Given the description of an element on the screen output the (x, y) to click on. 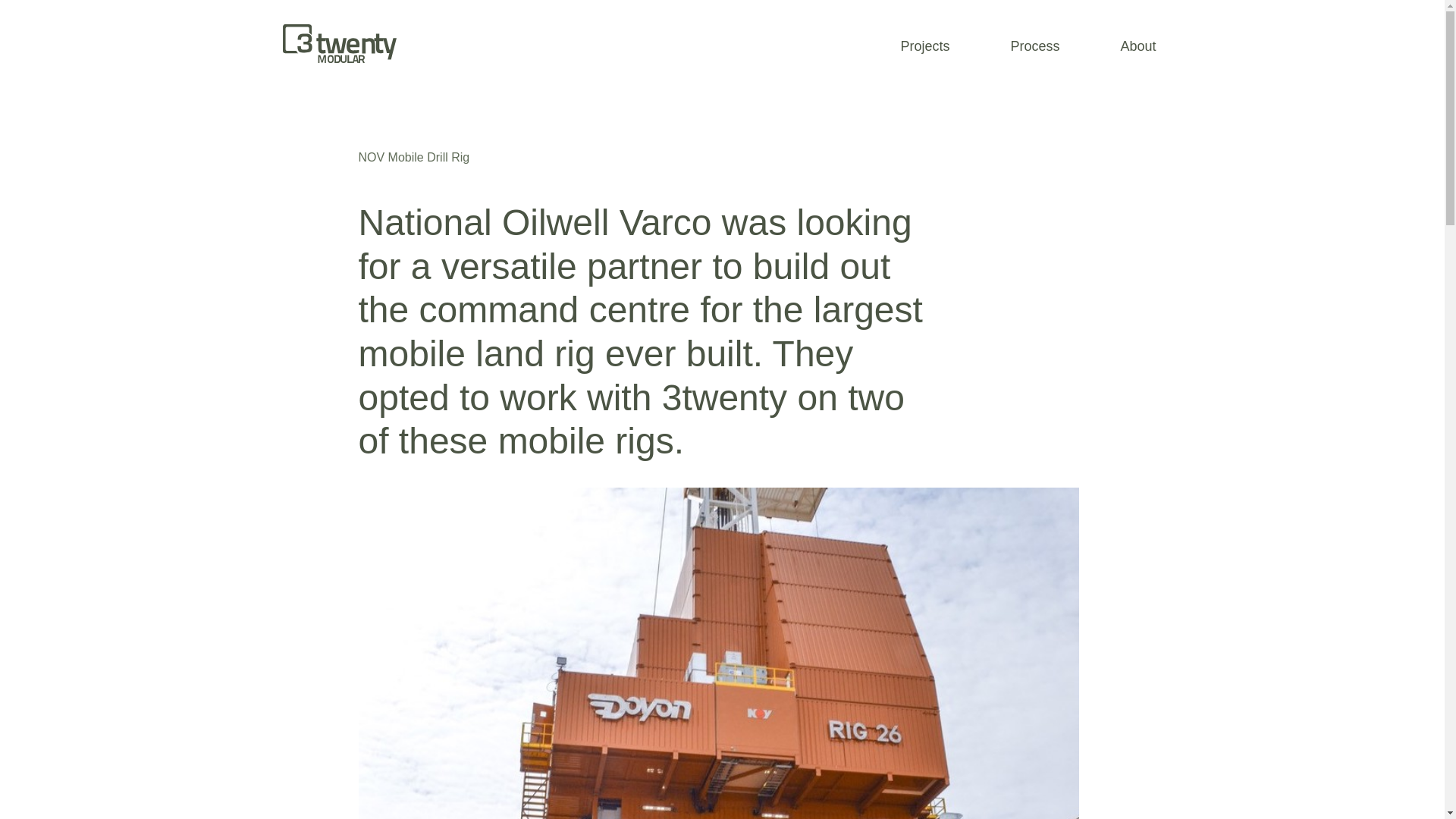
Projects (924, 46)
About (1137, 46)
Process (1034, 46)
